Given the description of an element on the screen output the (x, y) to click on. 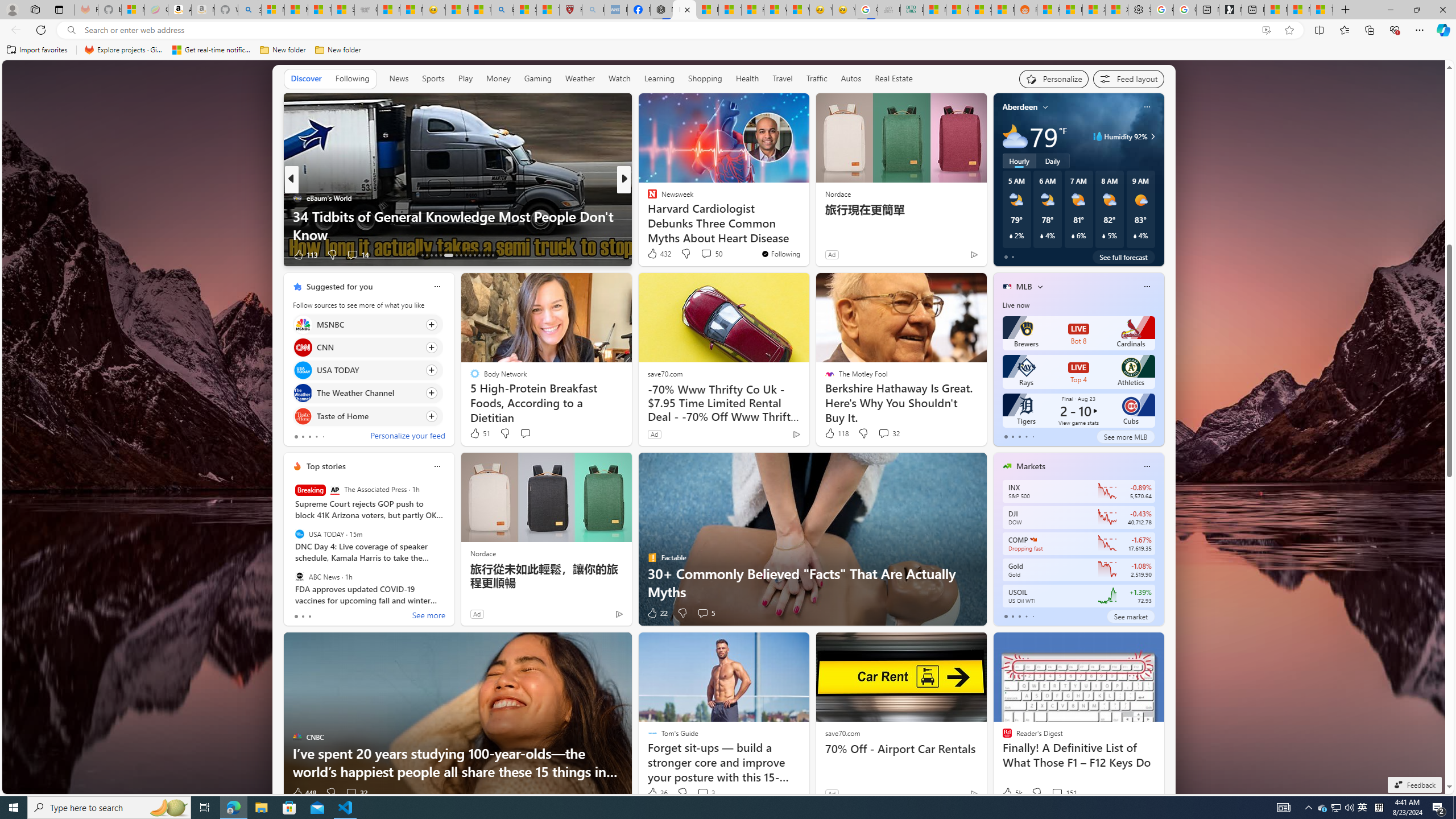
AutomationID: tab-69 (435, 255)
Top stories (325, 466)
Click to follow source The Weather Channel (367, 392)
Favorites bar (728, 49)
Search icon (70, 29)
Humidity 92% (1150, 136)
MLB (1024, 286)
17 Things Every Man Should Know About His Wife (807, 234)
CNN (302, 346)
MSN (1003, 9)
DITOGAMES AG Imprint (911, 9)
Click to follow source Taste of Home (367, 415)
